Given the description of an element on the screen output the (x, y) to click on. 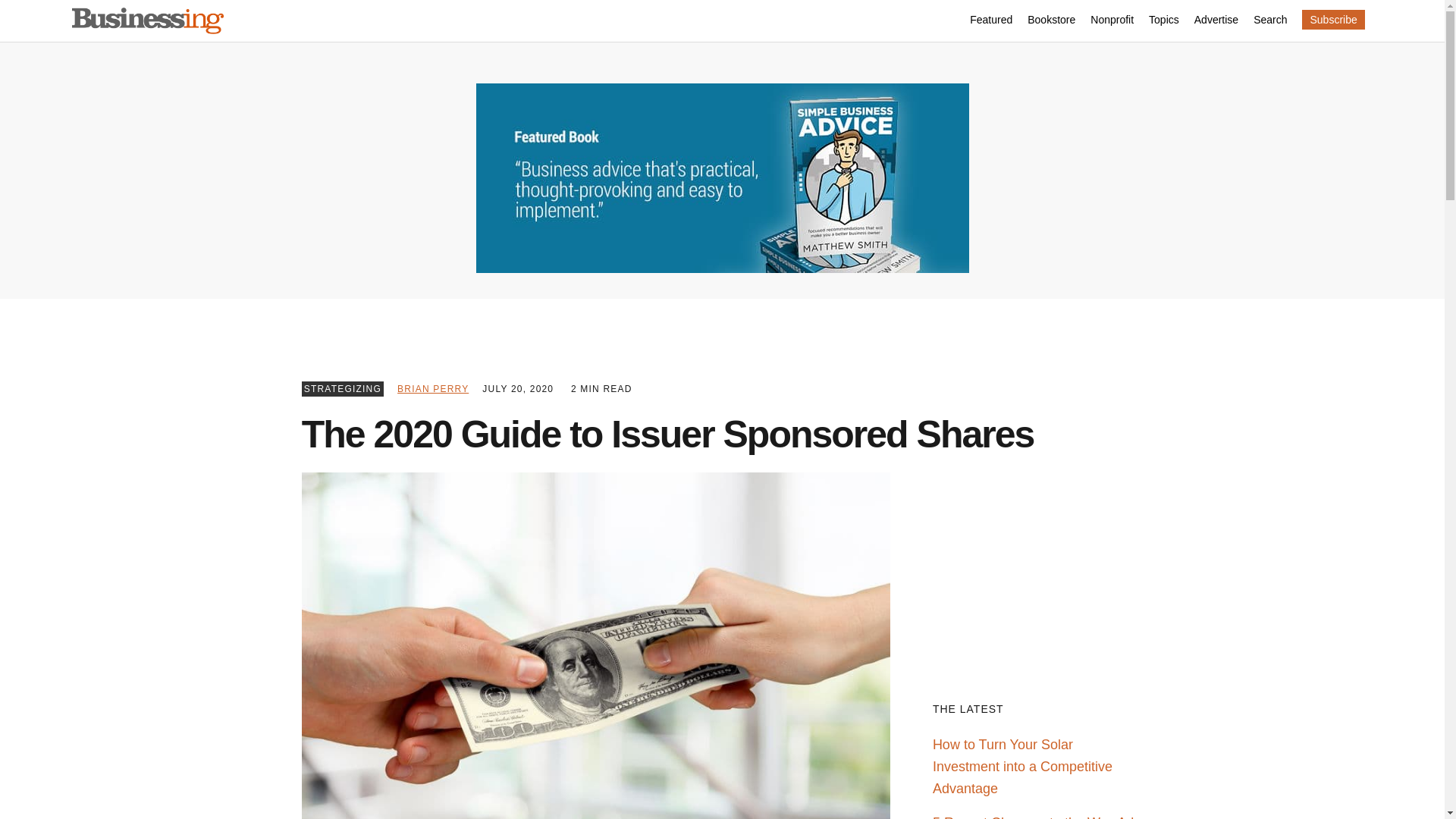
Businessing Magazine (147, 20)
STRATEGIZING (342, 388)
Nonprofit (1112, 20)
Advertise (1216, 20)
Subscribe (1332, 19)
5 Recent Changes to the Way Ads Are Created Online (1037, 816)
BRIAN PERRY (432, 388)
Featured (990, 20)
Bookstore (1051, 20)
